Given the description of an element on the screen output the (x, y) to click on. 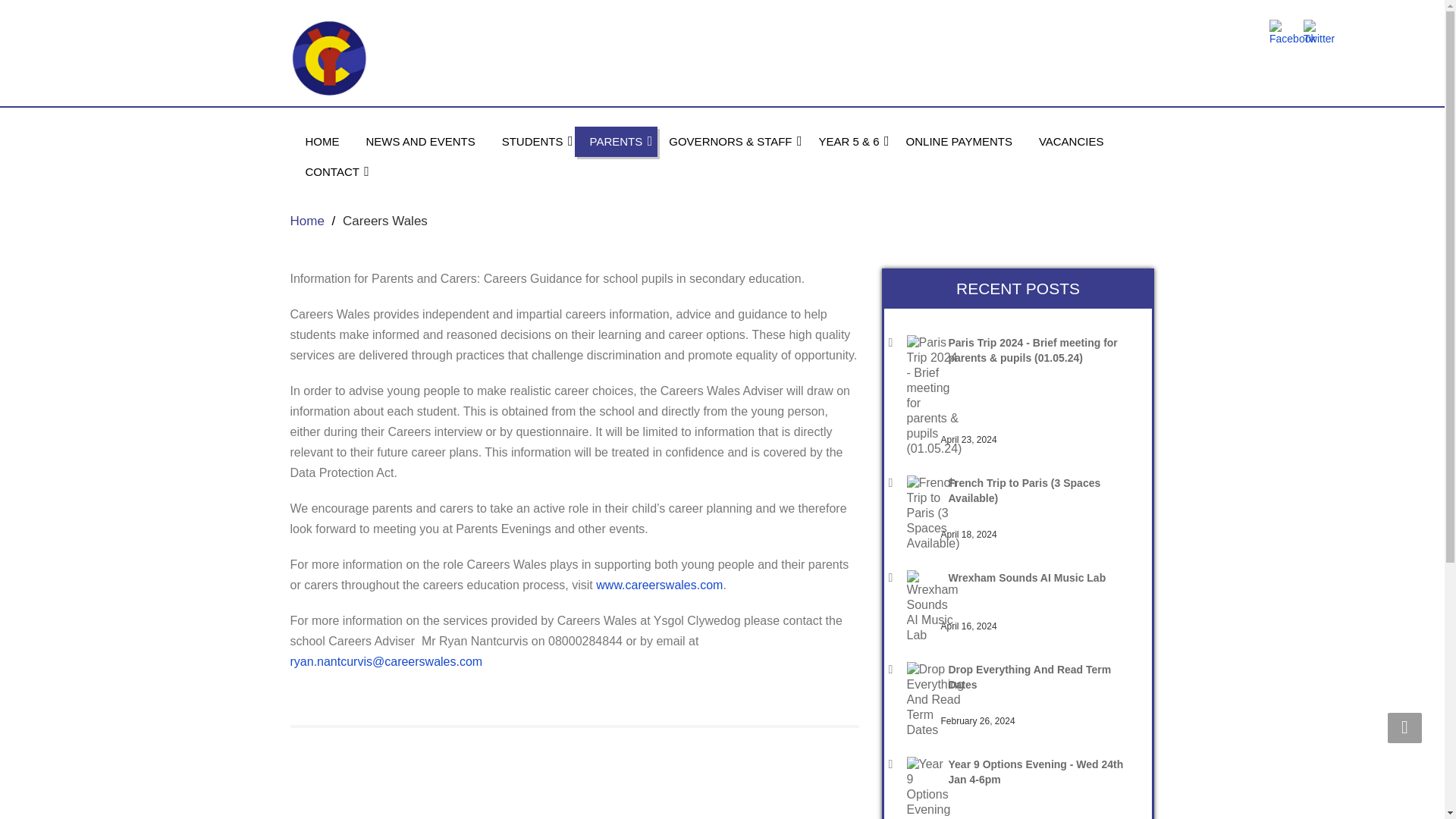
HOME (321, 141)
Permalink to Drop Everything And Read Term Dates (1038, 676)
STUDENTS (532, 141)
Permalink to Year 9 Options Evening - Wed 24th Jan 4-6pm (1038, 771)
Facebook (1292, 32)
Permalink to Wrexham Sounds AI Music Lab (1038, 577)
Go Top (1404, 727)
Ysgol Clywedog (499, 58)
NEWS AND EVENTS (419, 141)
Twitter (1319, 32)
